Given the description of an element on the screen output the (x, y) to click on. 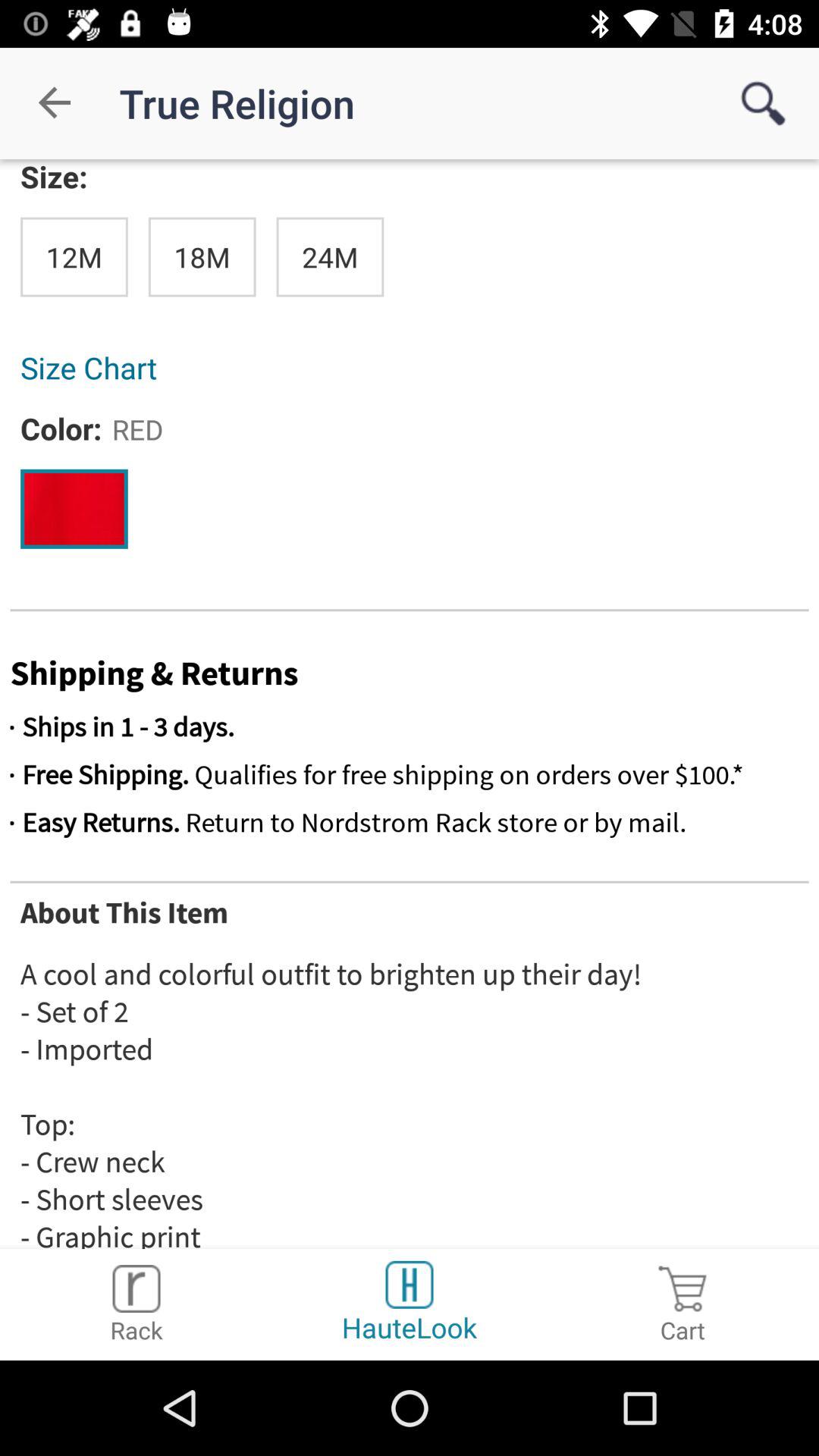
open 18m (201, 256)
